Given the description of an element on the screen output the (x, y) to click on. 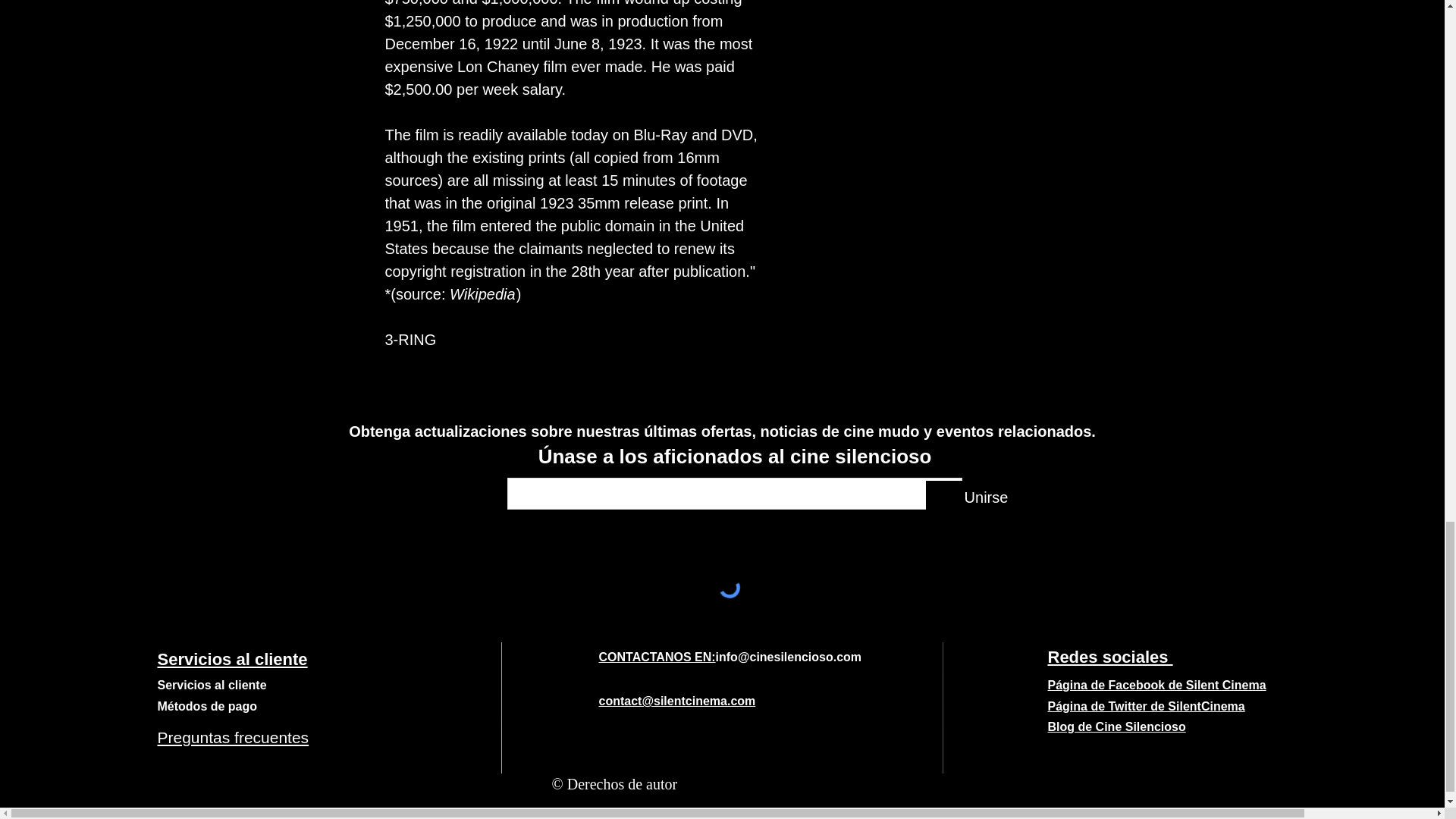
Servicios al cliente (211, 684)
Blog de Cine Silencioso (1117, 727)
Unirse (985, 497)
Servicios al cliente (232, 659)
Preguntas frecuentes (232, 737)
